Given the description of an element on the screen output the (x, y) to click on. 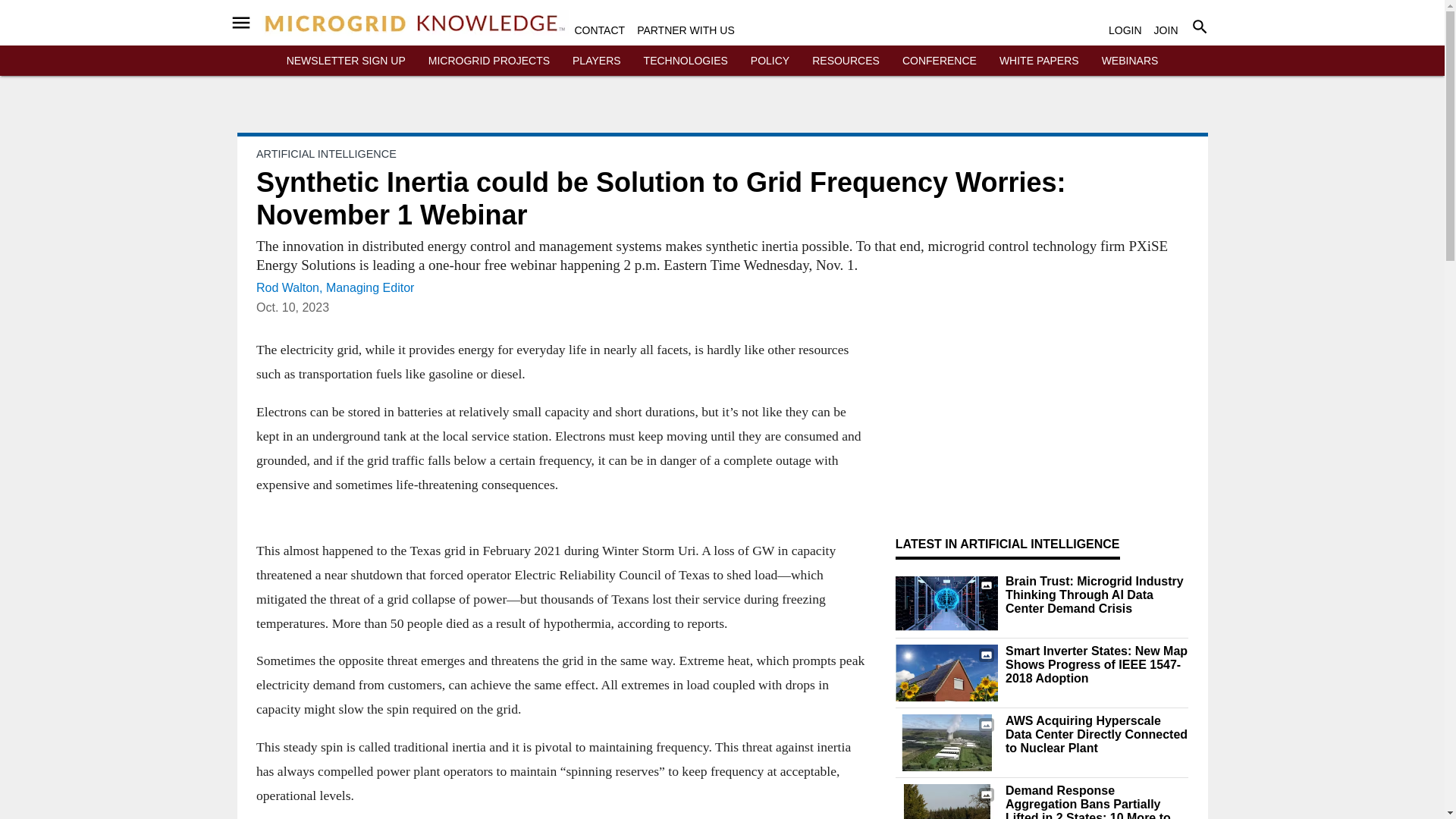
TECHNOLOGIES (685, 60)
WEBINARS (1130, 60)
CONFERENCE (939, 60)
WHITE PAPERS (1038, 60)
PLAYERS (596, 60)
POLICY (770, 60)
CONTACT (600, 30)
RESOURCES (845, 60)
Solar panels on Oregon farm (946, 801)
NEWSLETTER SIGN UP (346, 60)
MICROGRID PROJECTS (489, 60)
PARTNER WITH US (686, 30)
JOIN (1165, 30)
LOGIN (1124, 30)
